Given the description of an element on the screen output the (x, y) to click on. 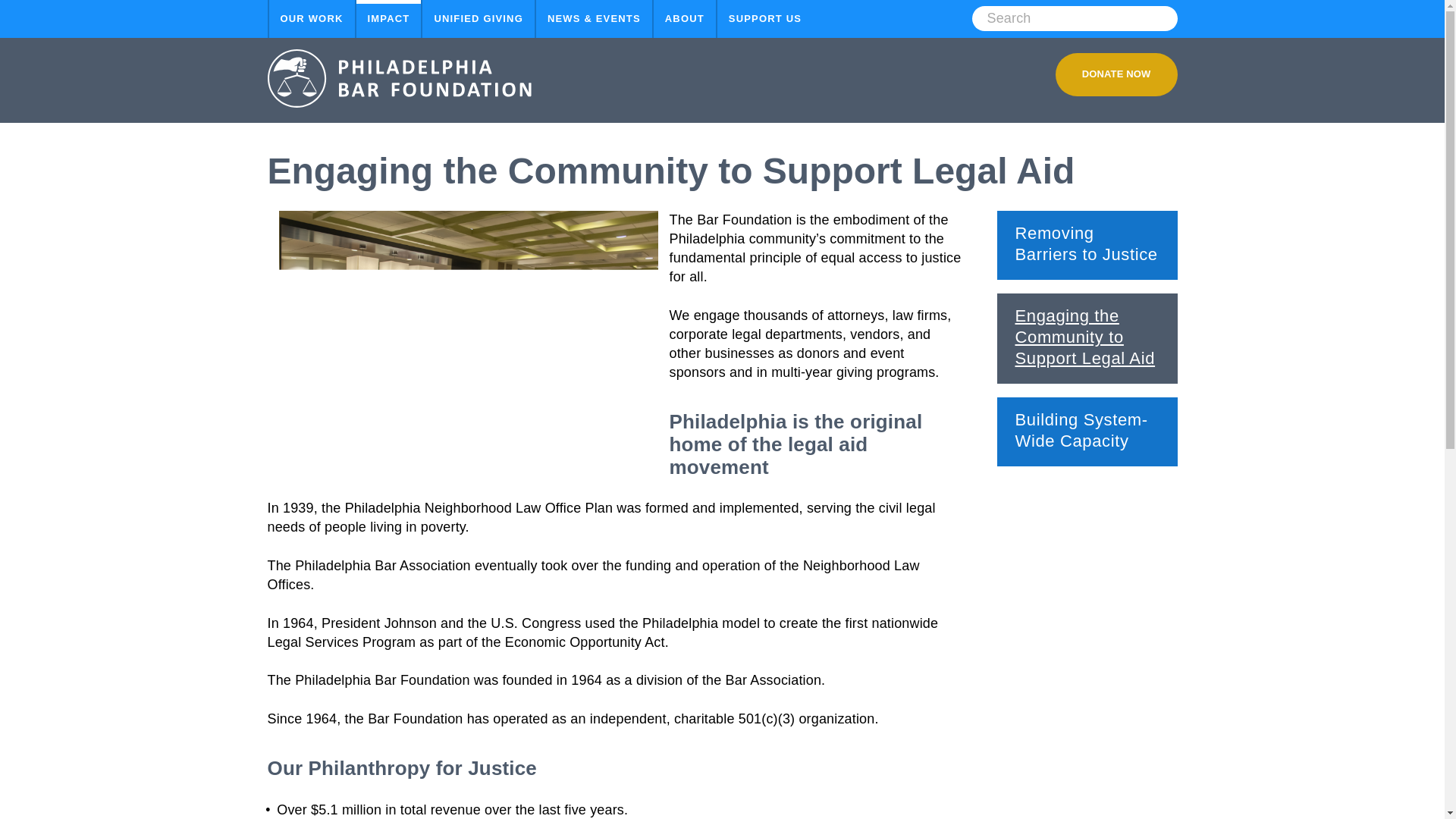
Enter the terms you wish to search for. (1074, 18)
UNIFIED GIVING (478, 18)
SUPPORT US (764, 18)
IMPACT (389, 18)
ABOUT (684, 18)
OUR WORK (310, 18)
